Given the description of an element on the screen output the (x, y) to click on. 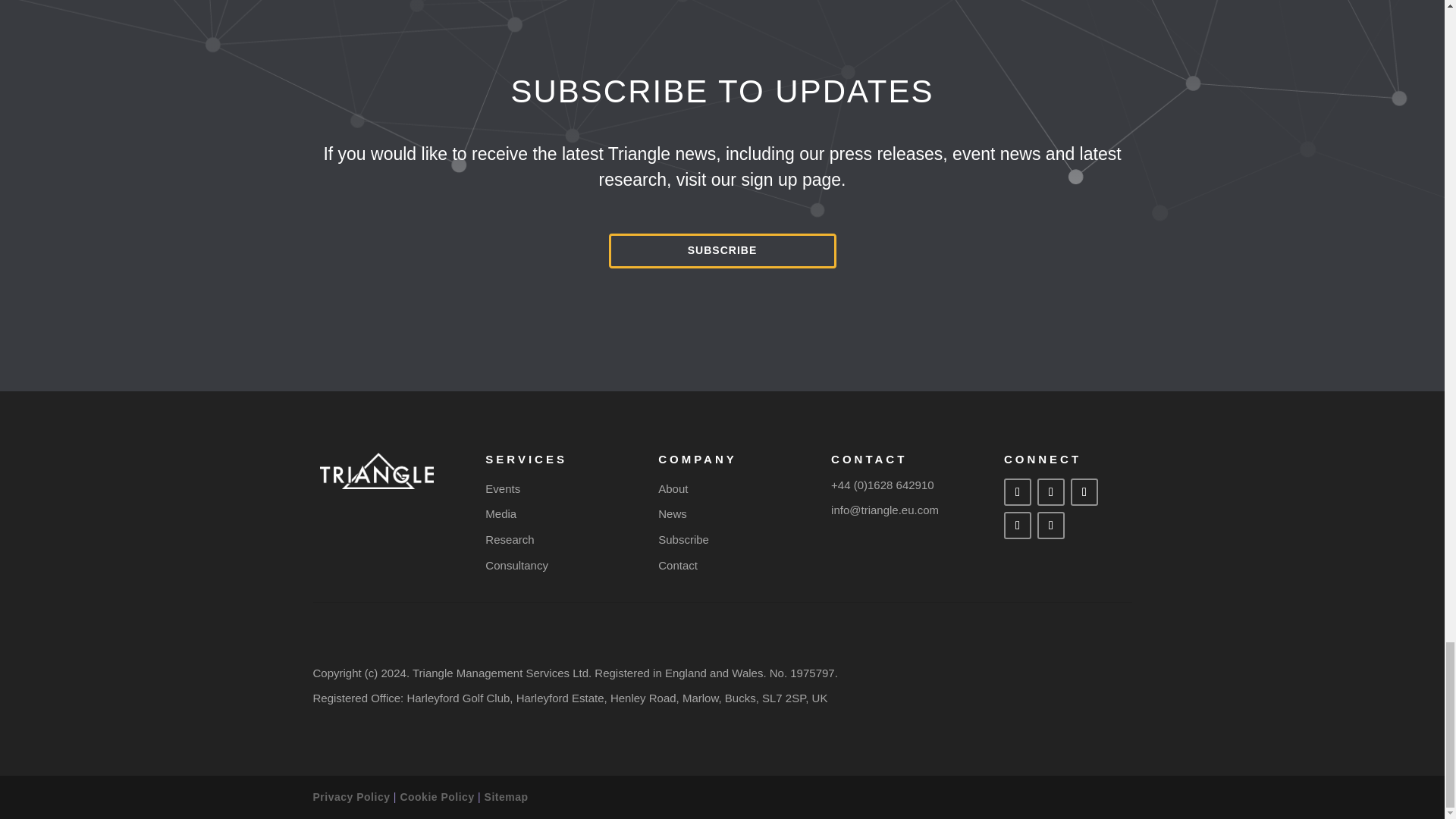
Follow on LinkedIn (1050, 492)
Follow on Flickr (1017, 524)
Follow on Youtube (1083, 492)
Follow on Facebook (1017, 492)
Follow on RSS (1050, 524)
